Given the description of an element on the screen output the (x, y) to click on. 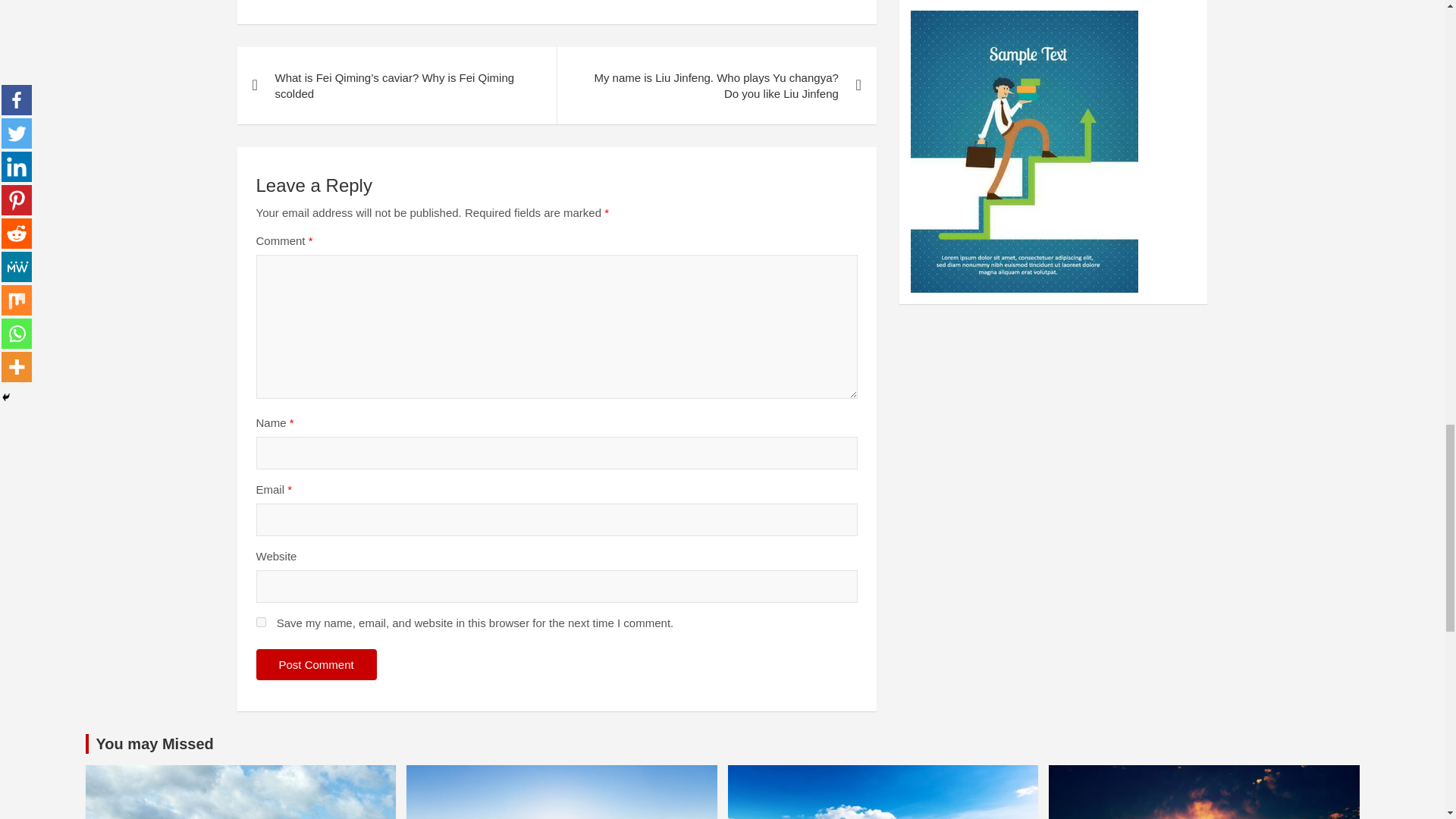
Post Comment (316, 664)
yes (261, 622)
